Given the description of an element on the screen output the (x, y) to click on. 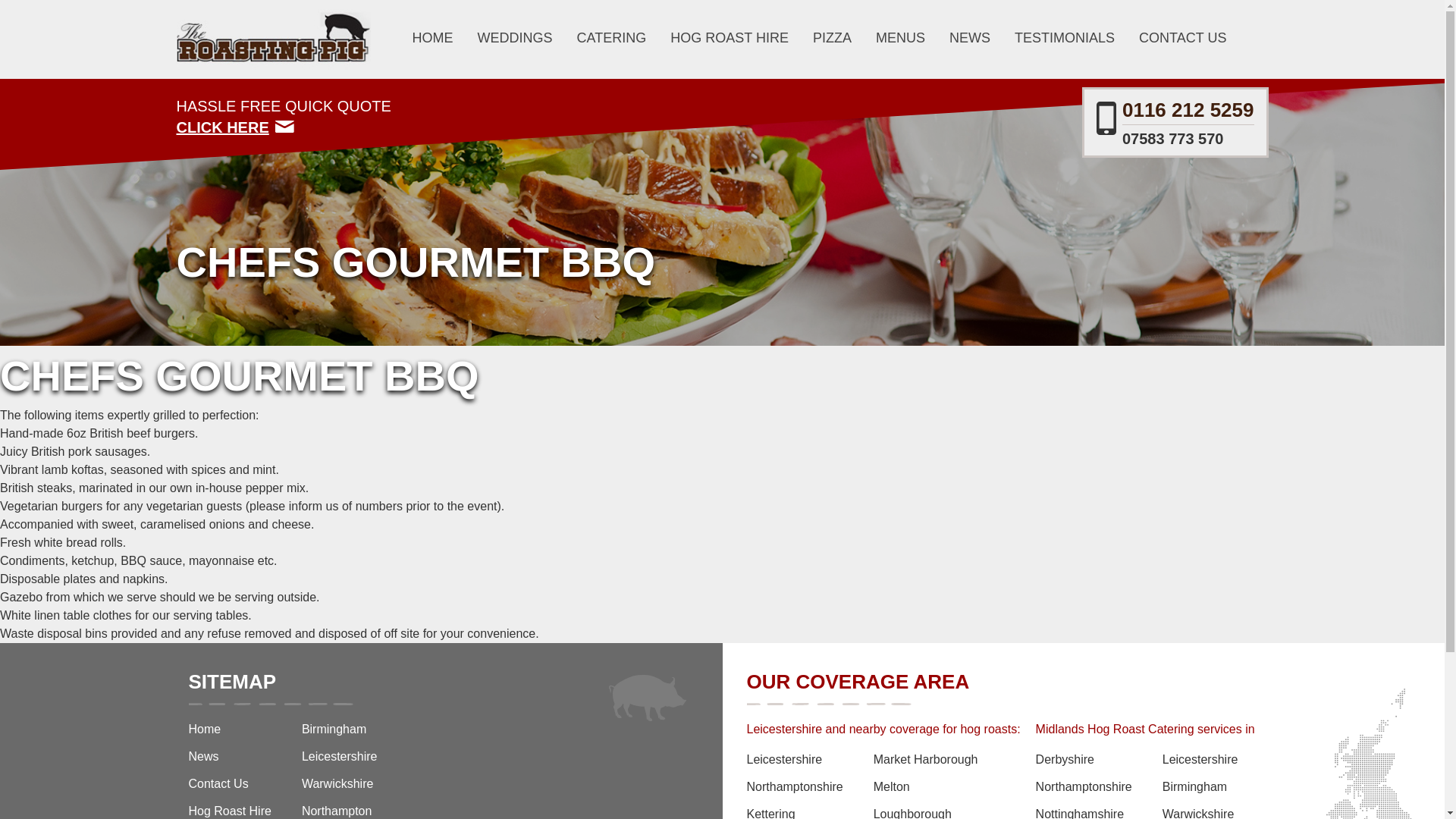
CONTACT US (1181, 39)
PIZZA (831, 39)
Hog Roast Hire (228, 810)
WEDDINGS (345, 116)
Loughborough (515, 39)
Northamptonshire (1174, 122)
Northamptonshire (925, 812)
Melton (1083, 791)
